Given the description of an element on the screen output the (x, y) to click on. 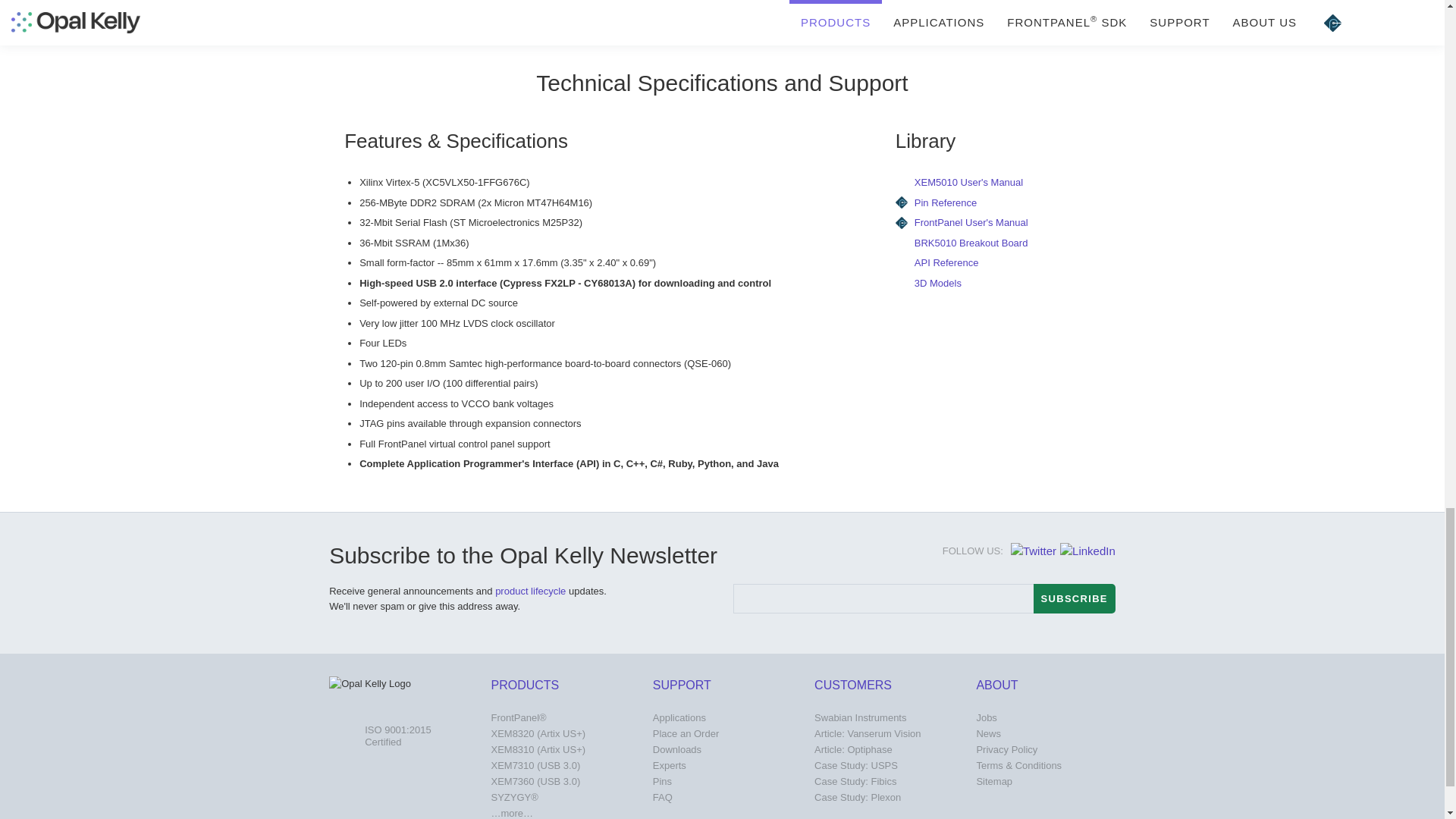
Subscribe (1074, 598)
